Given the description of an element on the screen output the (x, y) to click on. 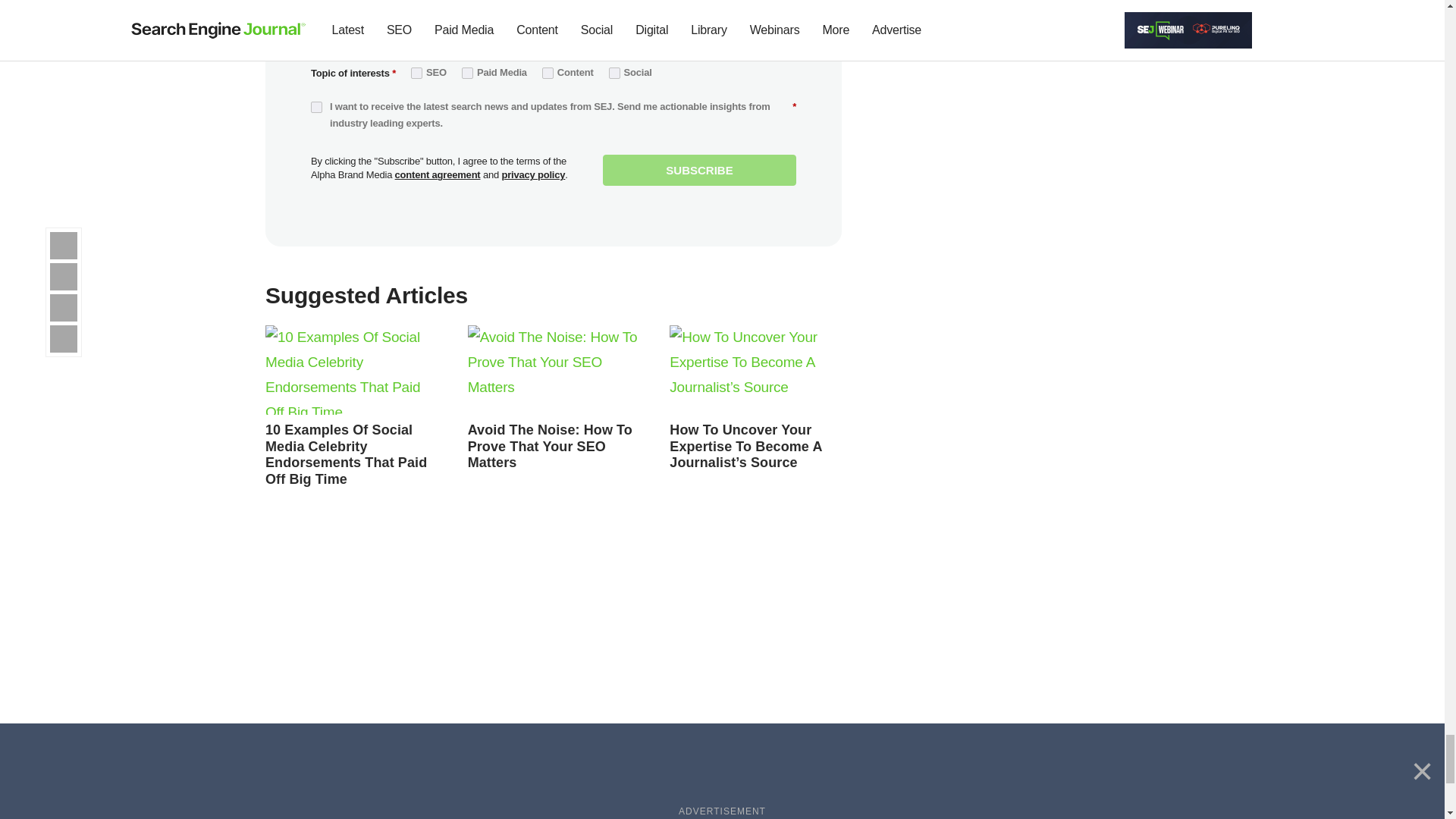
Read the Article (351, 369)
Read the Article (755, 369)
Read the Article (553, 369)
Read the Article (549, 446)
Read the Article (345, 454)
